Given the description of an element on the screen output the (x, y) to click on. 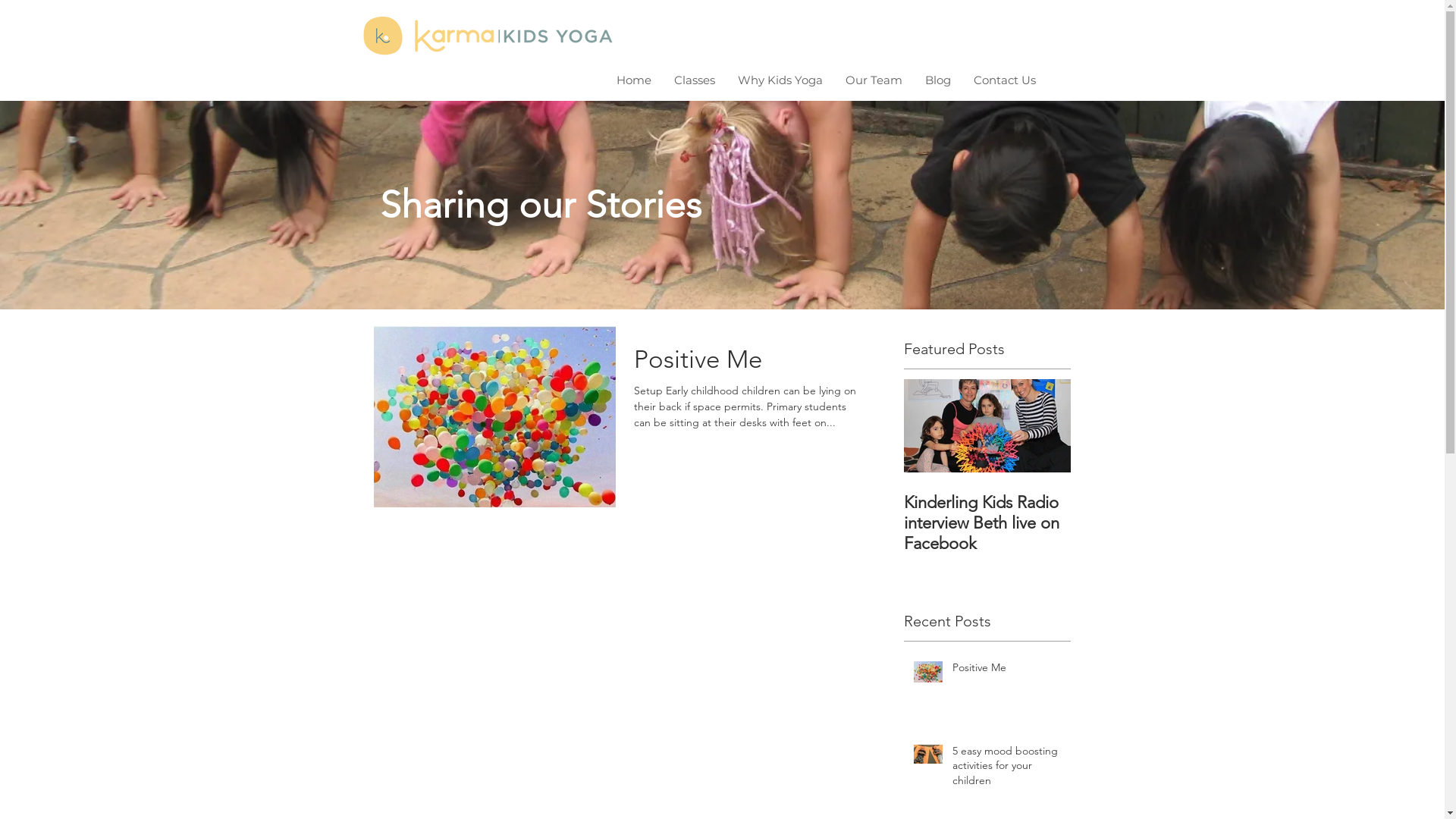
Our Team Element type: text (873, 79)
Positive Me Element type: text (748, 363)
Home Element type: text (633, 79)
Positive Me Element type: text (1006, 670)
Why Kids Yoga Element type: text (780, 79)
Classes Element type: text (694, 79)
Contact Us Element type: text (1004, 79)
5 easy mood boosting activities for your children Element type: text (1006, 768)
Blog Element type: text (937, 79)
Kinderling Kids Radio interview Beth live on Facebook Element type: text (986, 522)
